Given the description of an element on the screen output the (x, y) to click on. 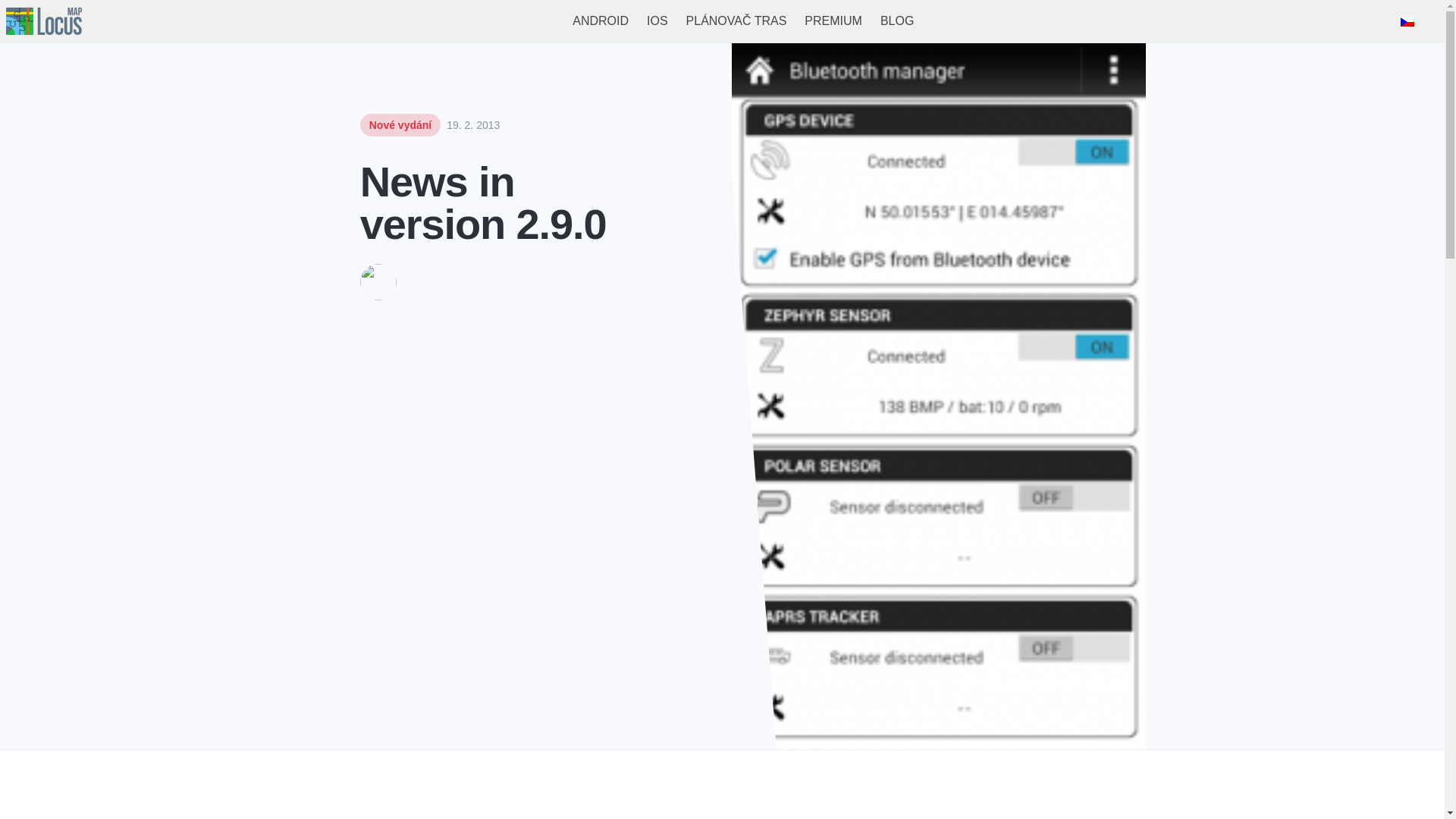
Blog (896, 21)
Premium (832, 21)
iOS (657, 21)
ANDROID (600, 21)
BLOG (896, 21)
IOS (657, 21)
Android (600, 21)
PREMIUM (832, 21)
